Given the description of an element on the screen output the (x, y) to click on. 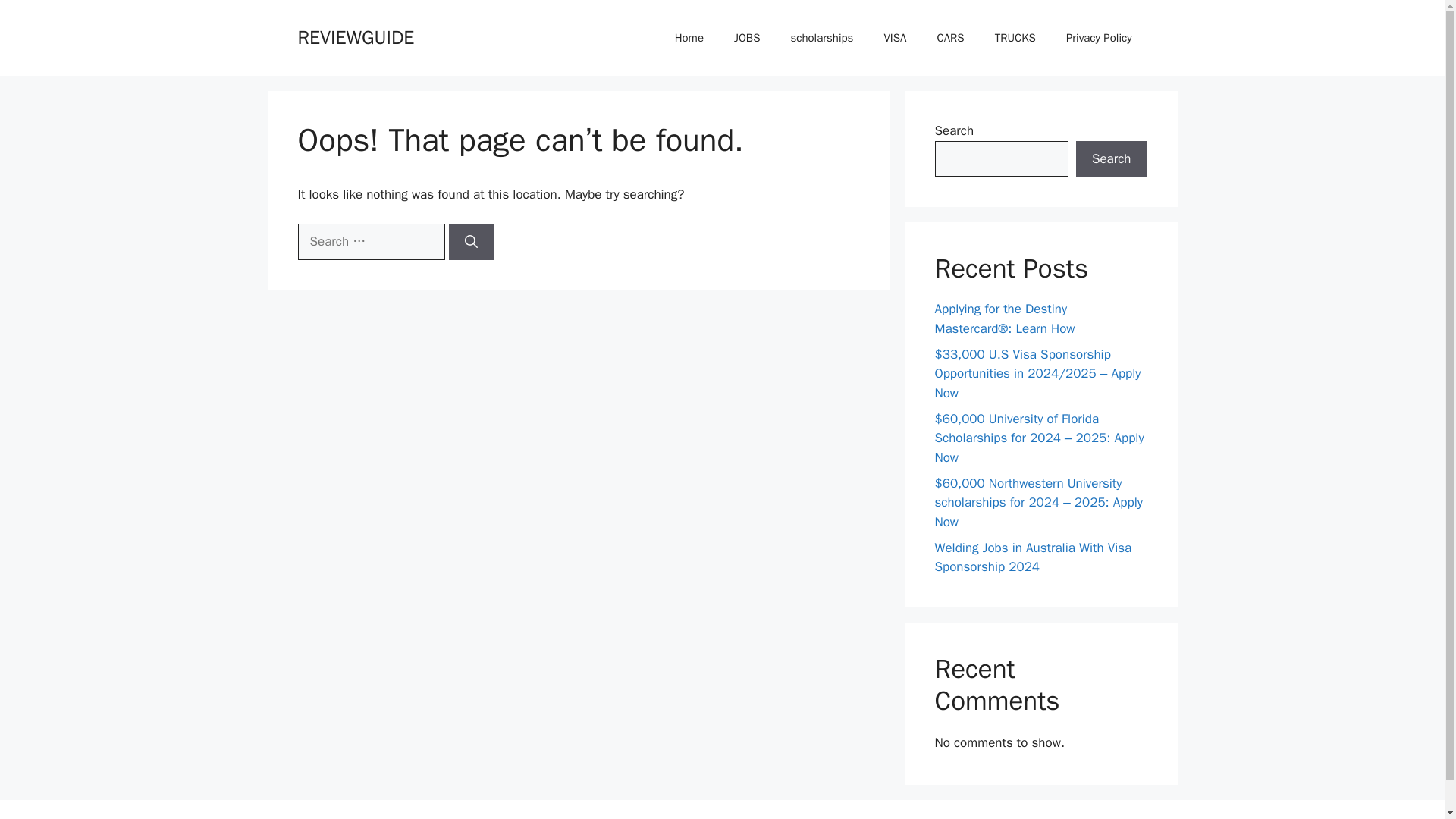
Home (689, 37)
Privacy Policy (1099, 37)
JOBS (746, 37)
TRUCKS (1015, 37)
CARS (949, 37)
GeneratePress (808, 817)
Search for: (370, 241)
VISA (894, 37)
scholarships (820, 37)
Search (1111, 158)
Welding Jobs in Australia With Visa Sponsorship 2024 (1032, 557)
REVIEWGUIDE (355, 37)
